Given the description of an element on the screen output the (x, y) to click on. 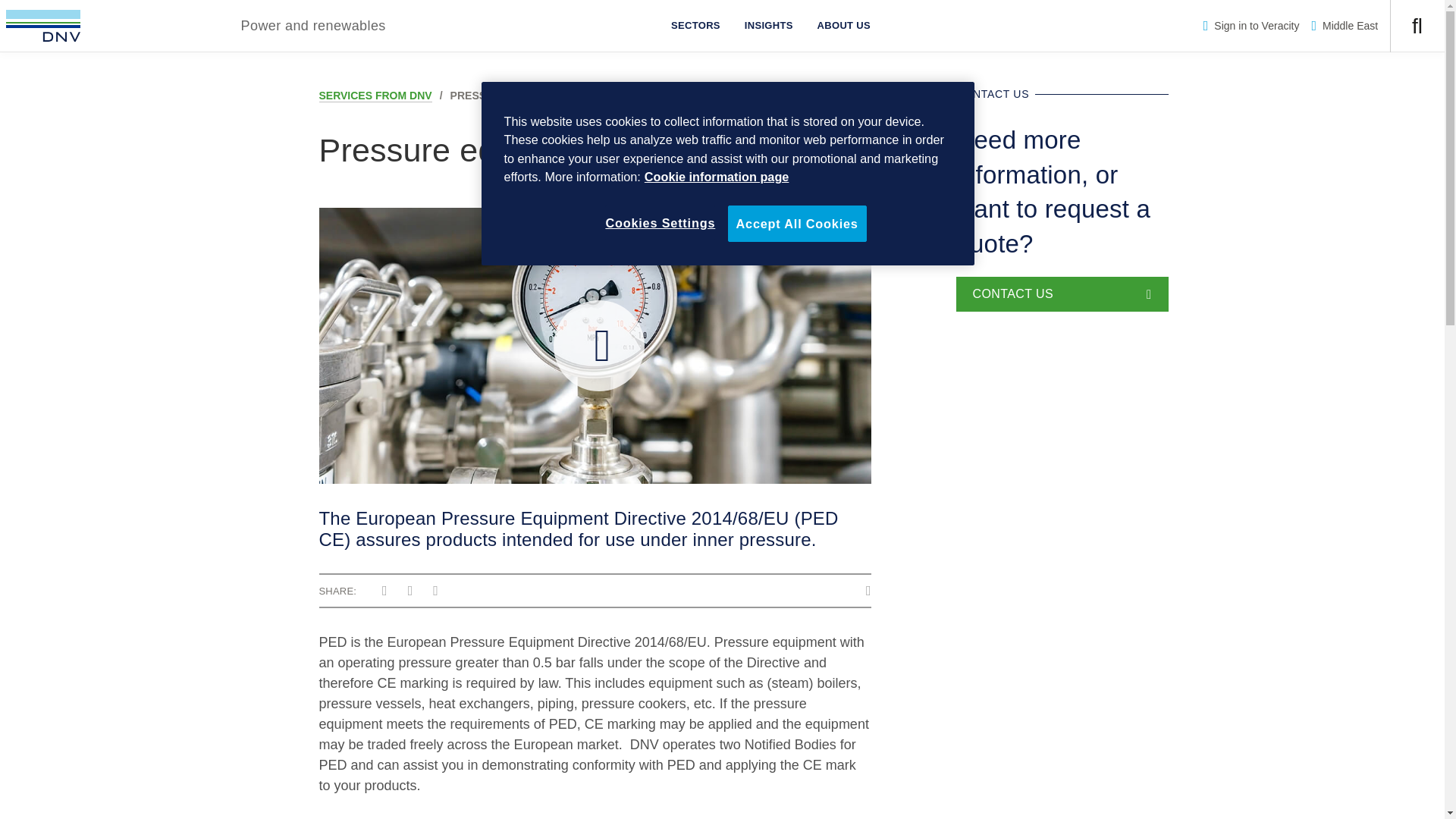
ABOUT US (843, 25)
INSIGHTS (768, 25)
SECTORS (695, 25)
